Given the description of an element on the screen output the (x, y) to click on. 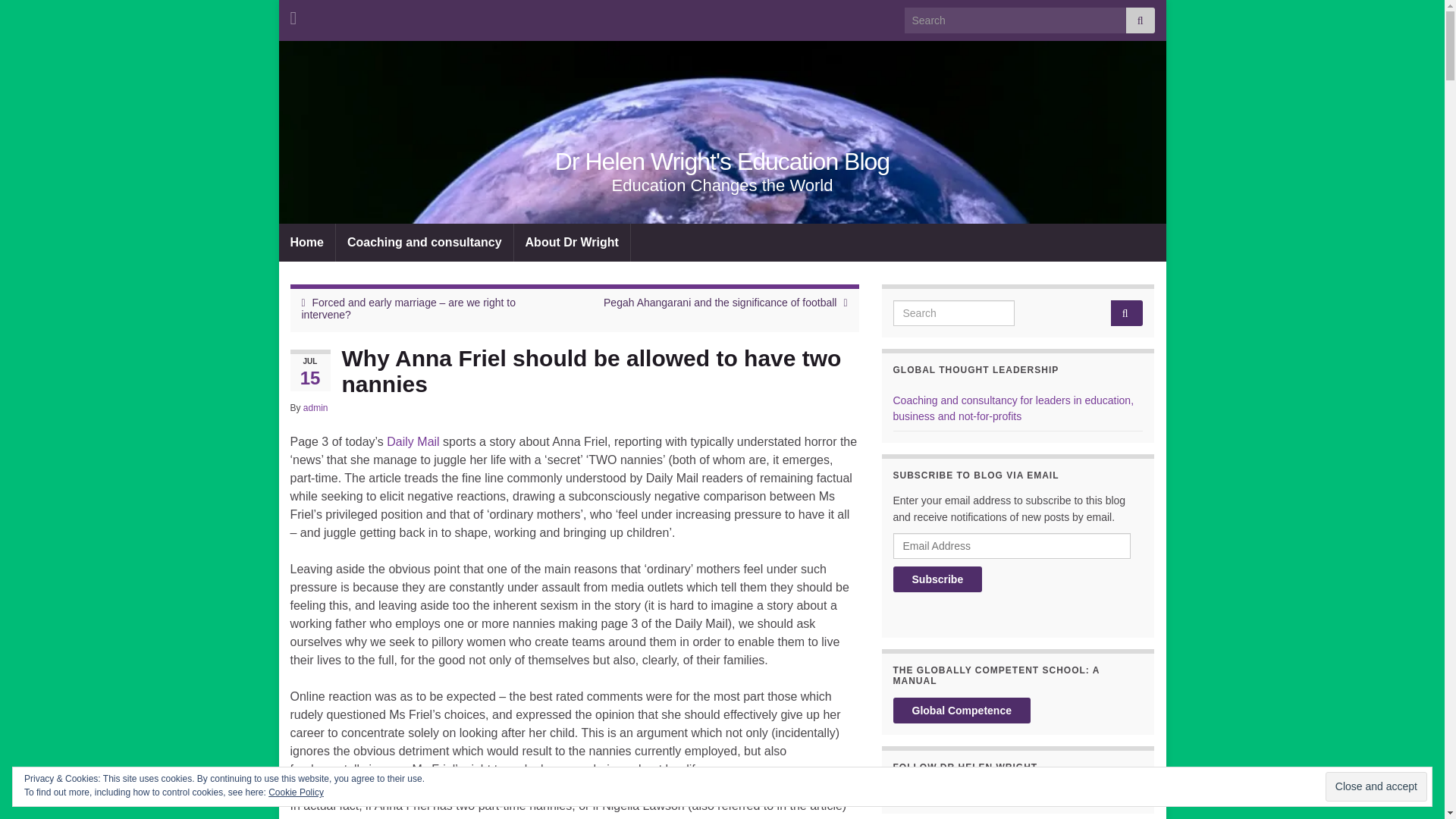
Dr Helen Wright's Education Blog (721, 161)
admin (315, 407)
Go back to the front page (721, 161)
Global Competence (961, 710)
About Dr Wright (571, 242)
Global Competence (961, 709)
Home (306, 242)
Close and accept (1375, 786)
Pegah Ahangarani and the significance of football (719, 302)
Coaching and consultancy (424, 242)
Subscribe (937, 579)
Daily Mail (413, 440)
Subscribe to Dr Helen Wright's Education Blog's RSS Feed (293, 15)
